Given the description of an element on the screen output the (x, y) to click on. 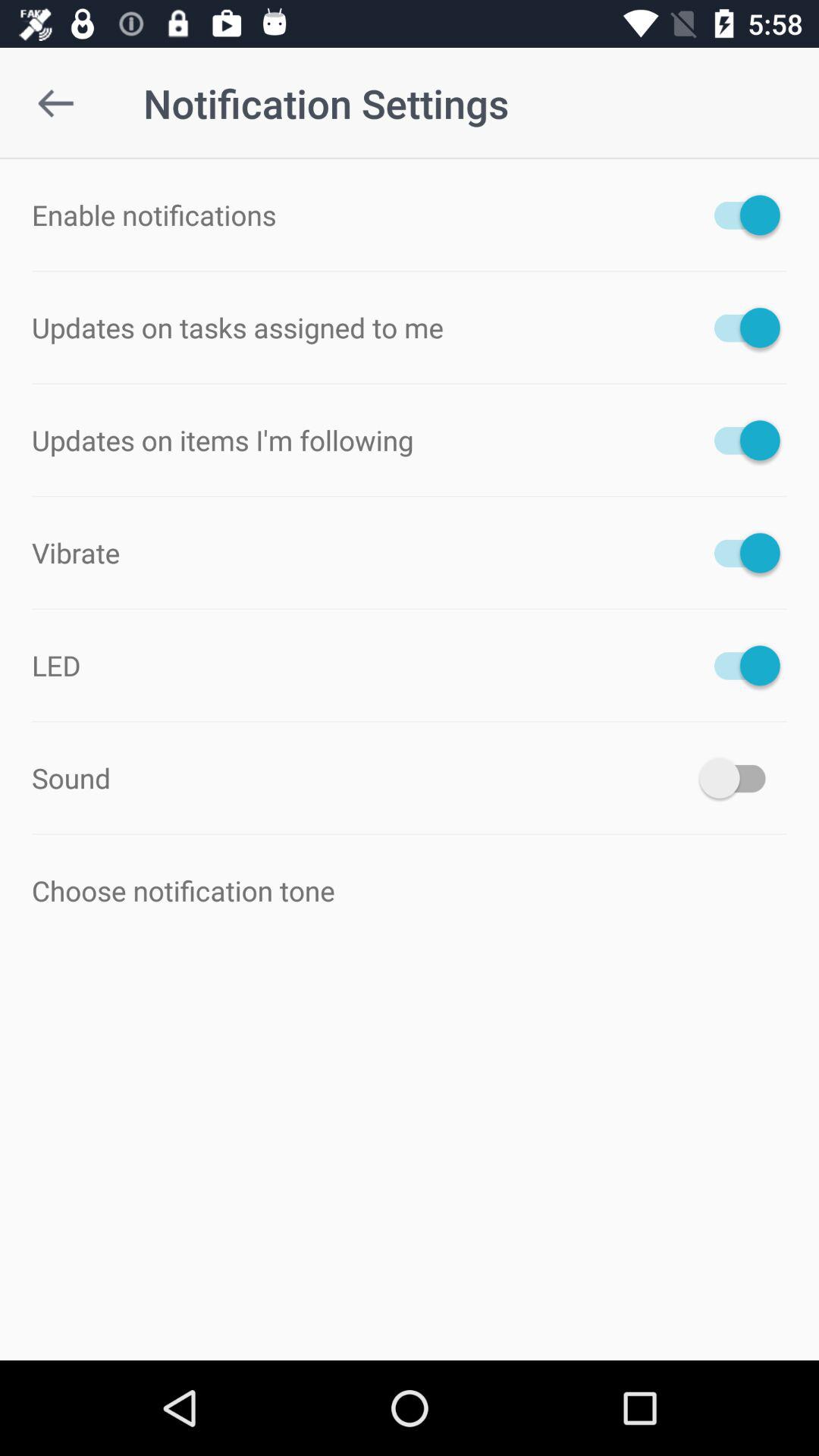
notification on off option (739, 439)
